Given the description of an element on the screen output the (x, y) to click on. 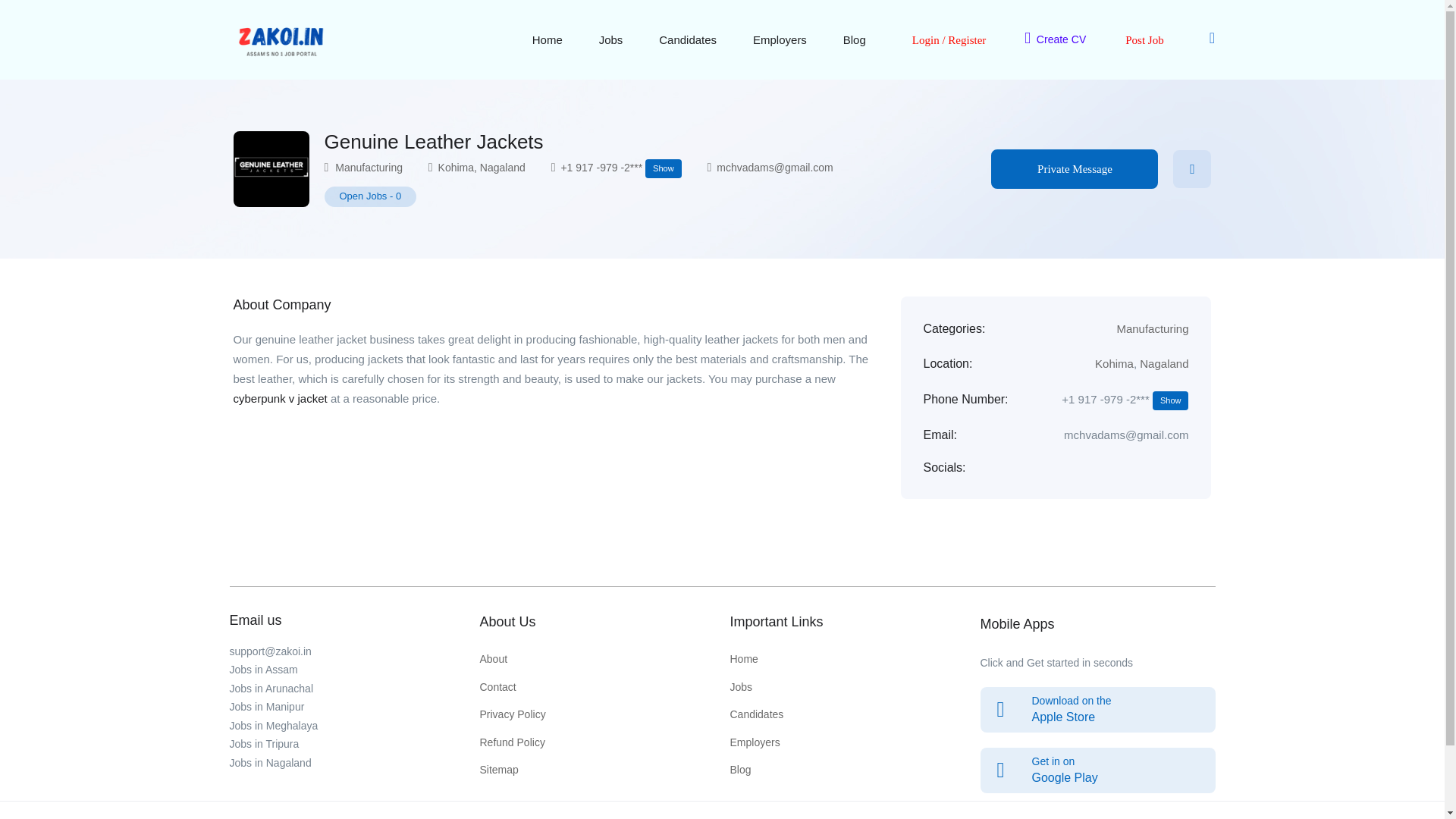
Candidates (687, 39)
Employers (779, 39)
